Given the description of an element on the screen output the (x, y) to click on. 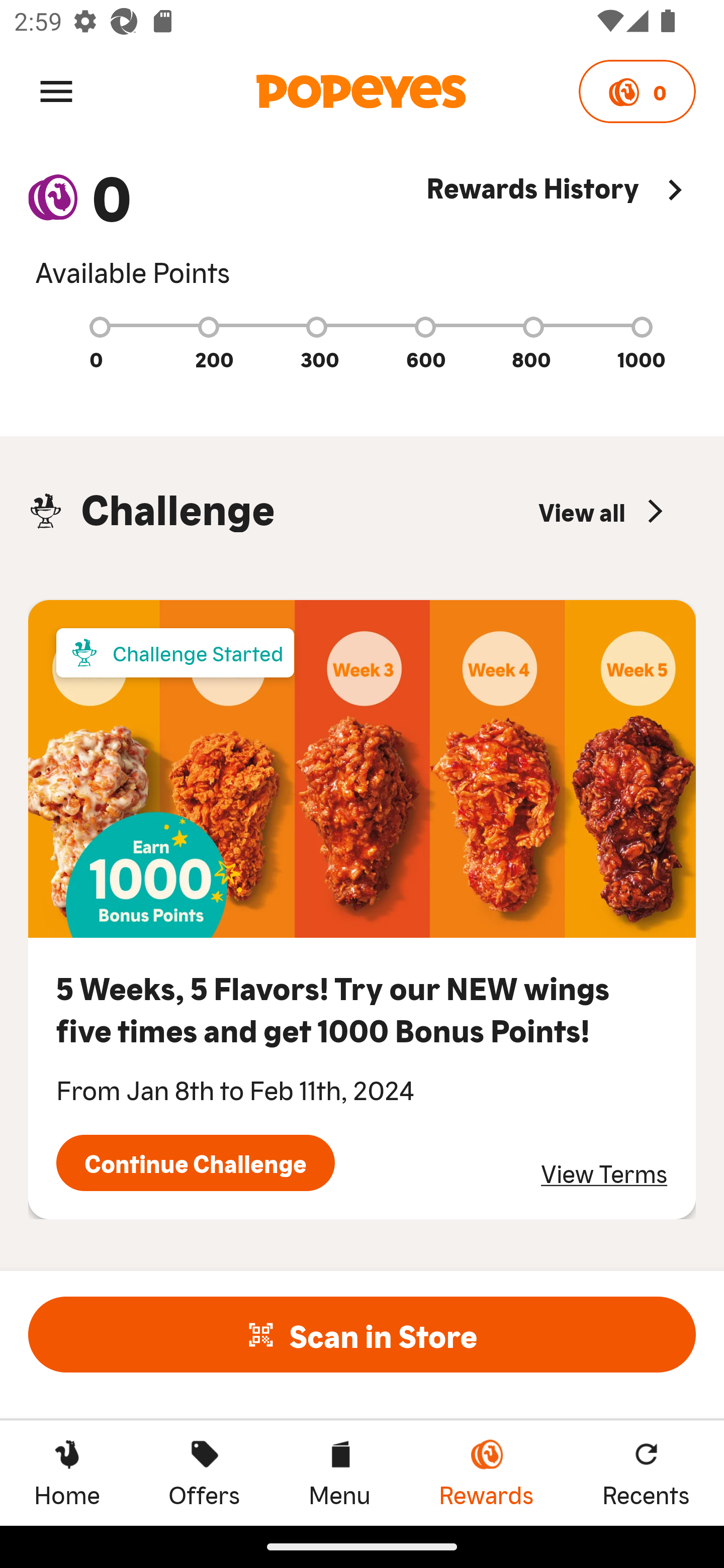
Menu  (56, 90)
0 Points 0 (636, 91)
Rewards History Rewards History  (560, 228)
View all (602, 511)
Continue Challenge (195, 1163)
View Terms (603, 1172)
Scan in Store  Scan in Store (361, 1334)
Home Home Home (66, 1472)
Offers Offers Offers (203, 1472)
Menu Menu Menu (339, 1472)
Recents Recents Recents (646, 1472)
